Given the description of an element on the screen output the (x, y) to click on. 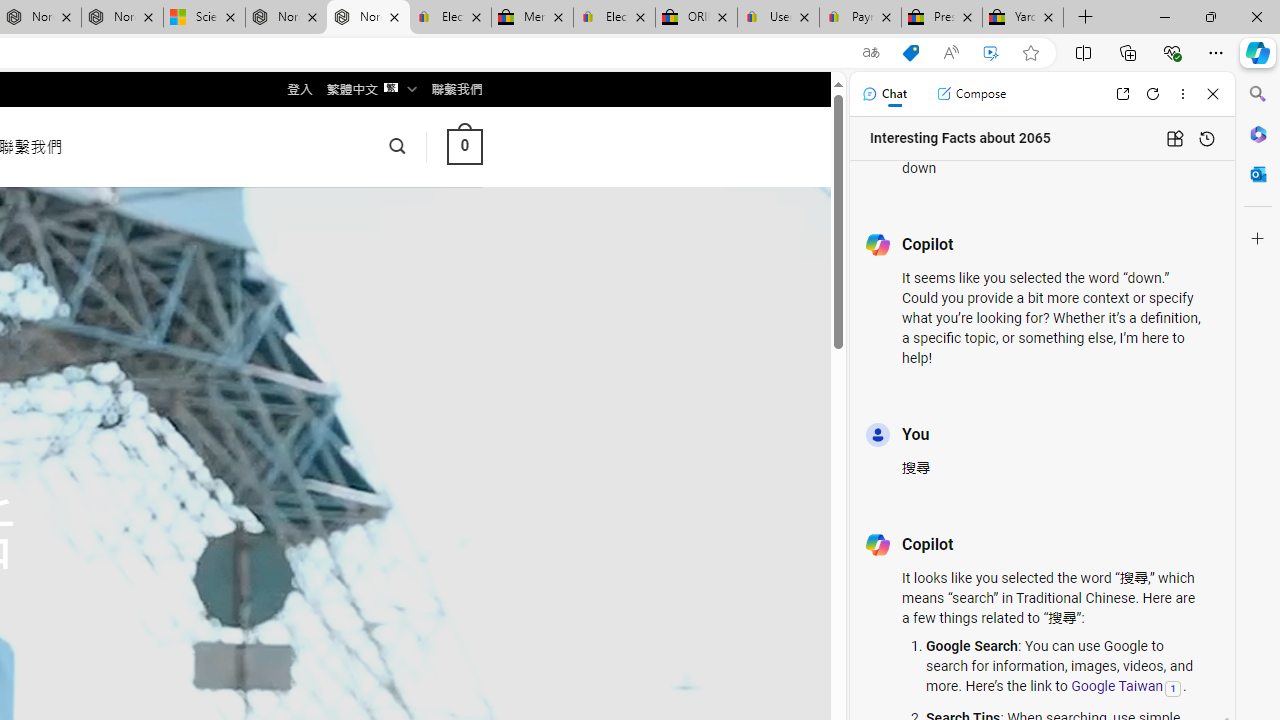
Chat (884, 93)
Nordace - Summer Adventures 2024 (285, 17)
Show translate options (870, 53)
Payments Terms of Use | eBay.com (860, 17)
